Given the description of an element on the screen output the (x, y) to click on. 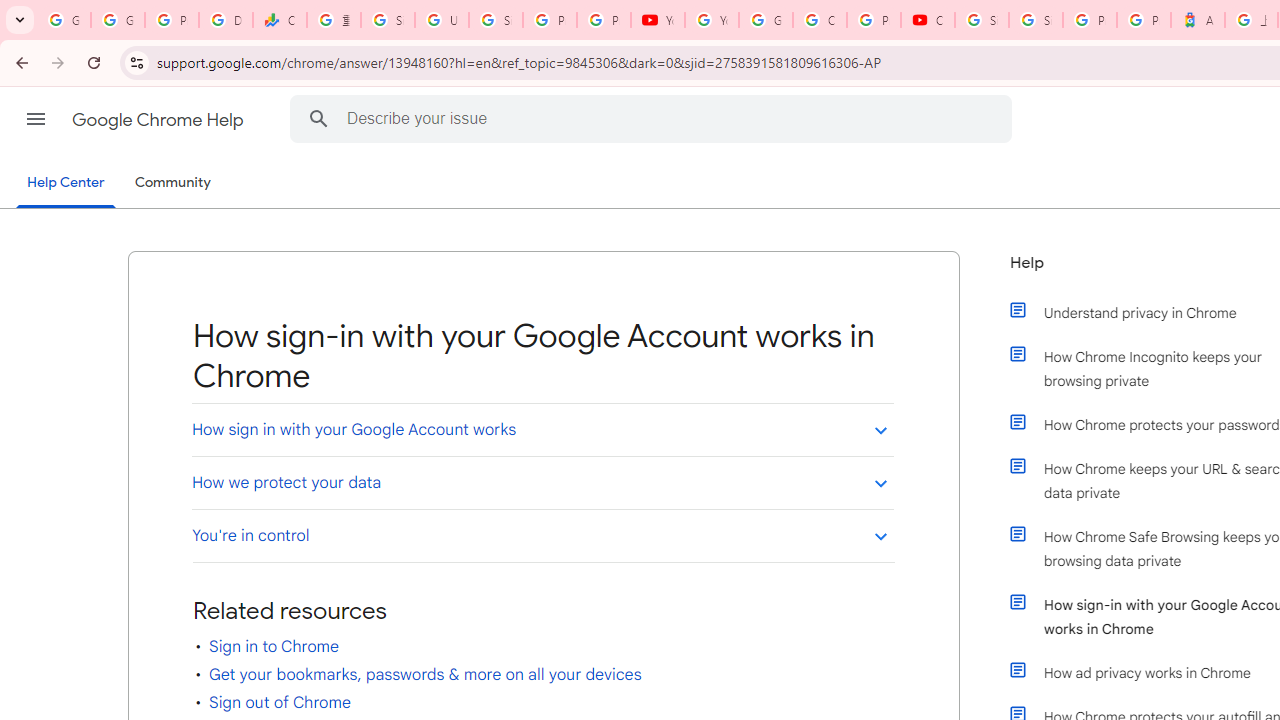
Search Help Center (318, 118)
Get your bookmarks, passwords & more on all your devices (425, 674)
Sign in - Google Accounts (387, 20)
Create your Google Account (819, 20)
YouTube (657, 20)
Currencies - Google Finance (280, 20)
Privacy Checkup (604, 20)
Sign out of Chrome (279, 702)
